Given the description of an element on the screen output the (x, y) to click on. 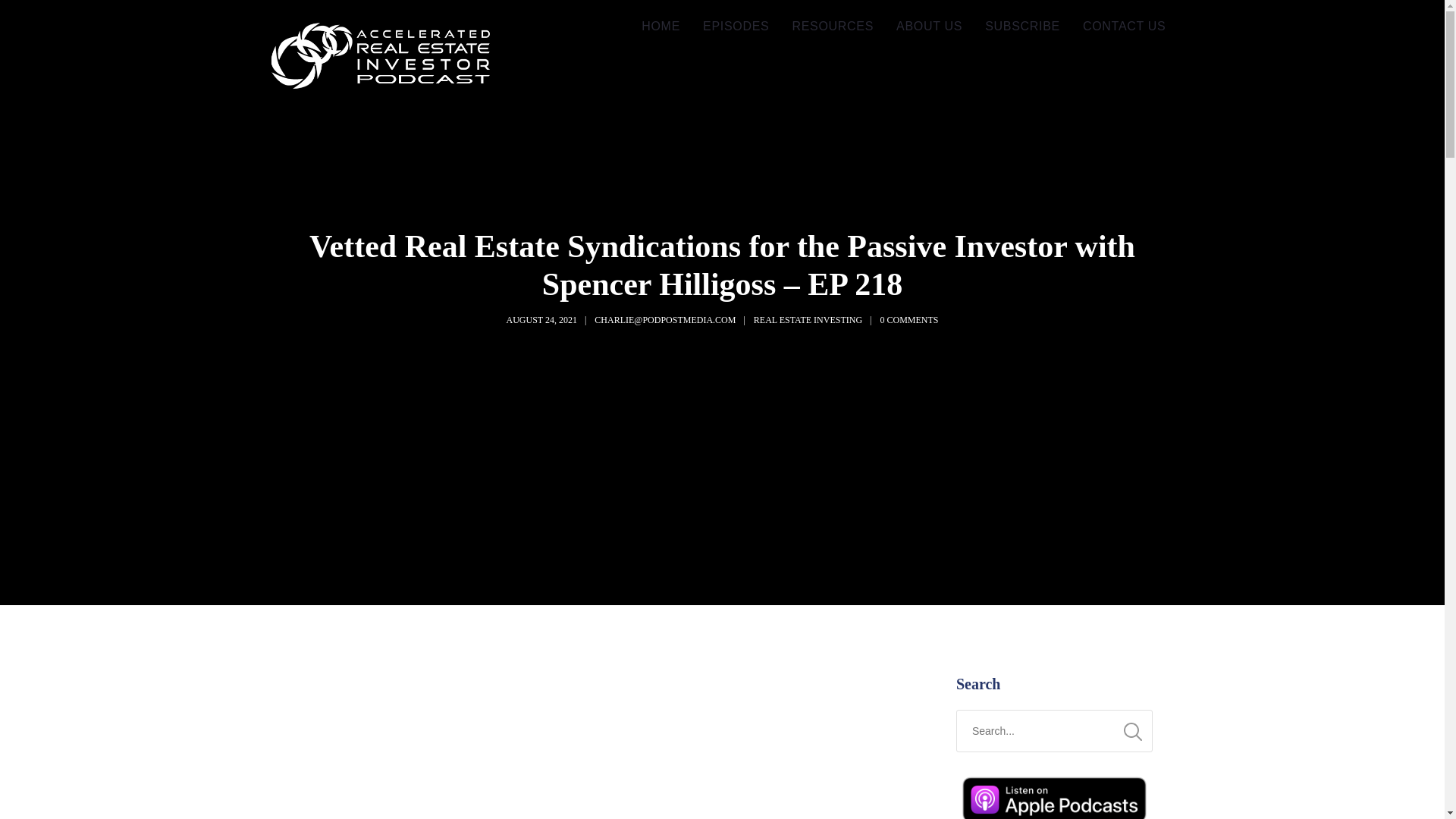
0 COMMENTS (908, 319)
ABOUT US (929, 26)
REAL ESTATE INVESTING (807, 319)
Accelerated Investor Podcast (380, 57)
HOME (660, 26)
CONTACT US (1124, 26)
SUBSCRIBE (1022, 26)
RESOURCES (832, 26)
EPISODES (735, 26)
